Given the description of an element on the screen output the (x, y) to click on. 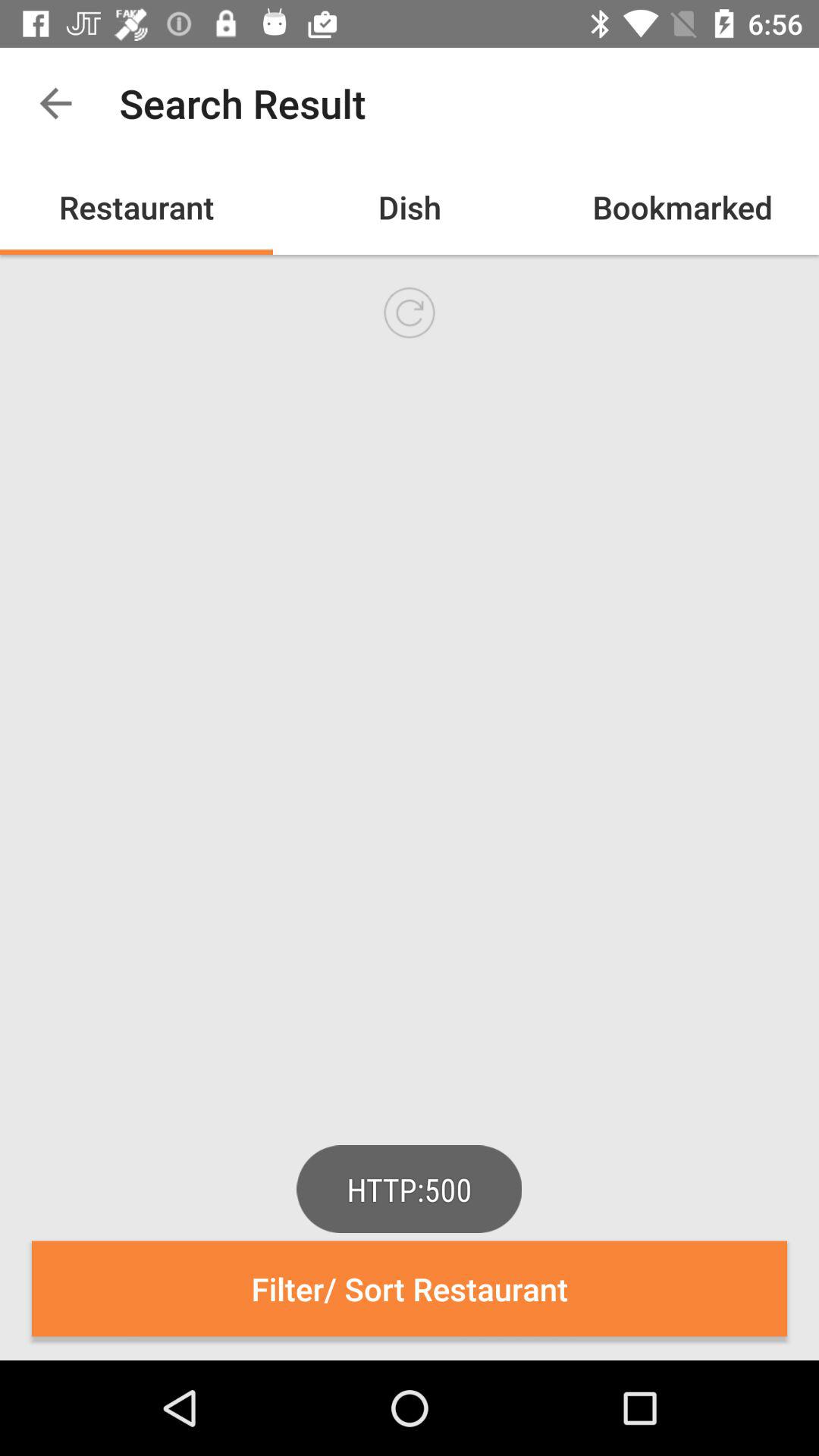
replay (409, 312)
